Given the description of an element on the screen output the (x, y) to click on. 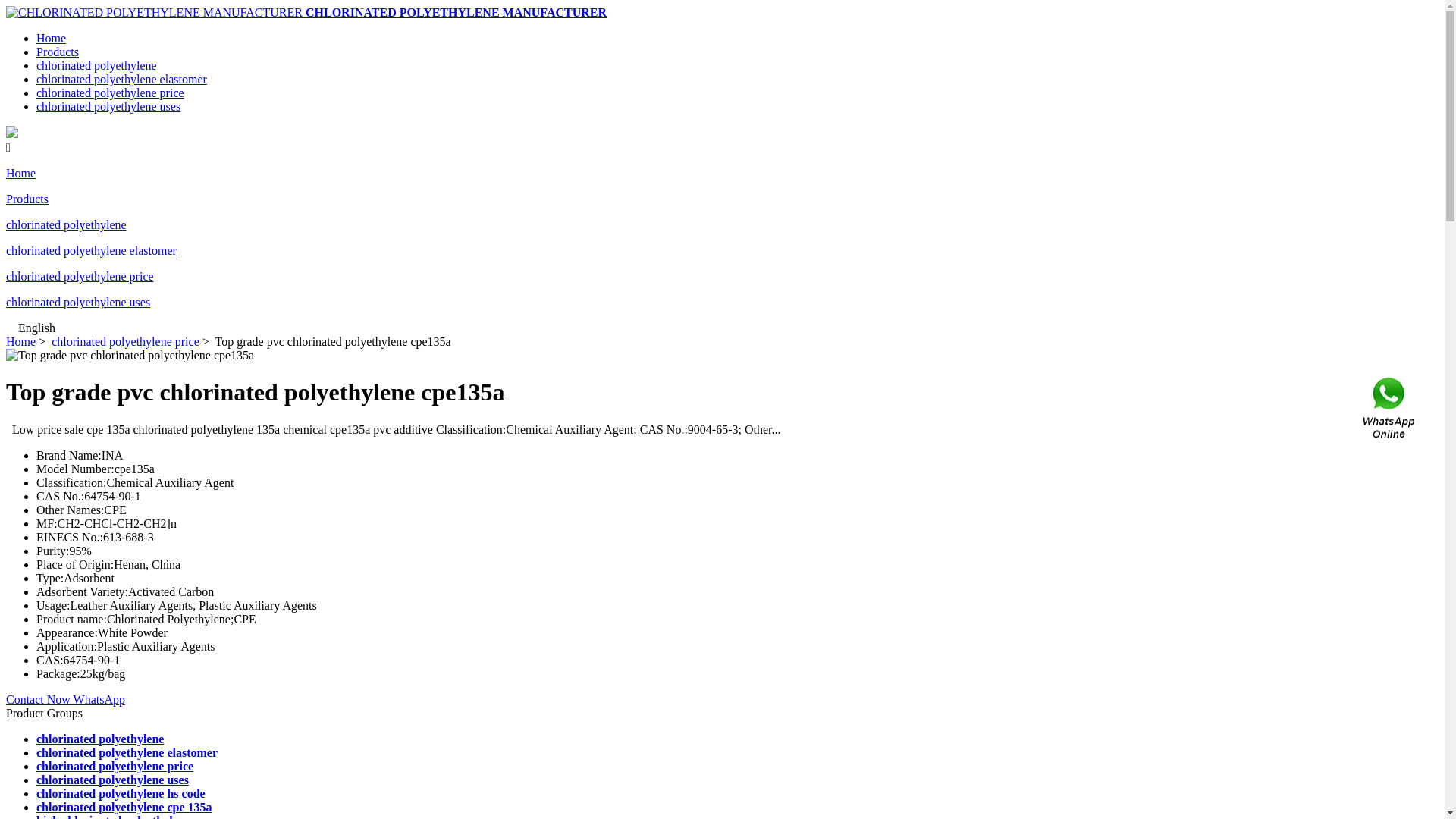
chlorinated polyethylene uses Element type: text (112, 779)
chlorinated polyethylene uses Element type: text (78, 301)
chlorinated polyethylene Element type: text (99, 738)
chlorinated polyethylene uses Element type: text (108, 106)
chlorinated polyethylene hs code Element type: text (120, 793)
chlorinated polyethylene price Element type: text (79, 275)
Contact Us Element type: hover (1389, 409)
chlorinated polyethylene cpe 135a Element type: text (124, 806)
chlorinated polyethylene Element type: text (96, 65)
chlorinated polyethylene price Element type: text (125, 341)
CHLORINATED POLYETHYLENE MANUFACTURER Element type: text (455, 12)
chlorinated polyethylene price Element type: text (110, 92)
Products Element type: text (57, 51)
Contact Now Element type: text (39, 699)
chlorinated polyethylene Element type: text (66, 224)
Home Element type: text (50, 37)
Home Element type: text (20, 341)
WhatsApp Element type: text (99, 699)
Home Element type: text (20, 172)
chlorinated polyethylene elastomer Element type: text (91, 250)
chlorinated polyethylene elastomer Element type: text (126, 752)
Products Element type: text (27, 198)
chlorinated polyethylene elastomer Element type: text (121, 78)
chlorinated polyethylene price Element type: text (114, 765)
